Given the description of an element on the screen output the (x, y) to click on. 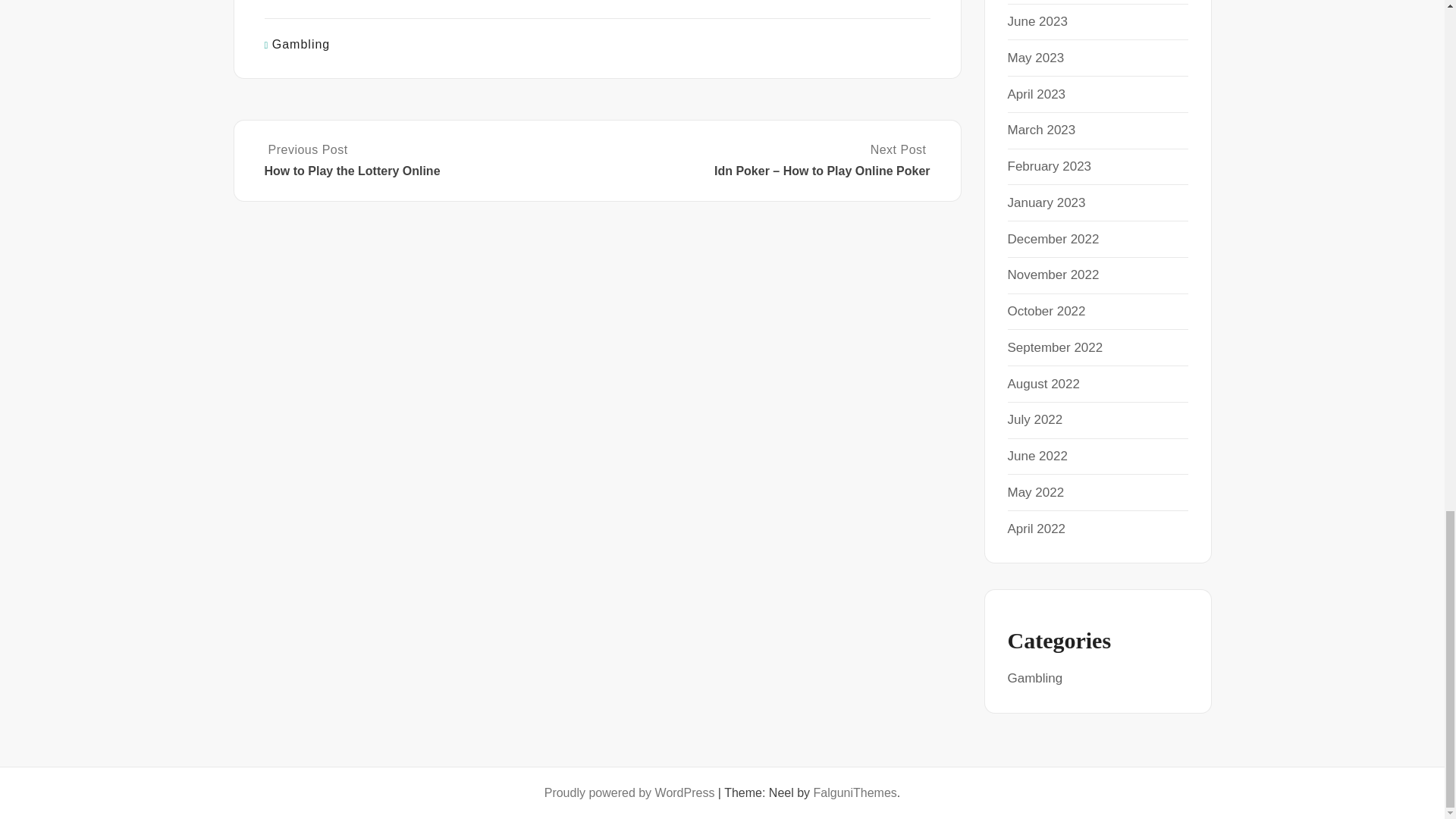
June 2023 (1037, 21)
January 2023 (1045, 202)
February 2023 (1048, 165)
Gambling (301, 43)
December 2022 (1053, 238)
April 2023 (1036, 93)
March 2023 (1041, 129)
November 2022 (1053, 274)
May 2023 (1035, 57)
